Given the description of an element on the screen output the (x, y) to click on. 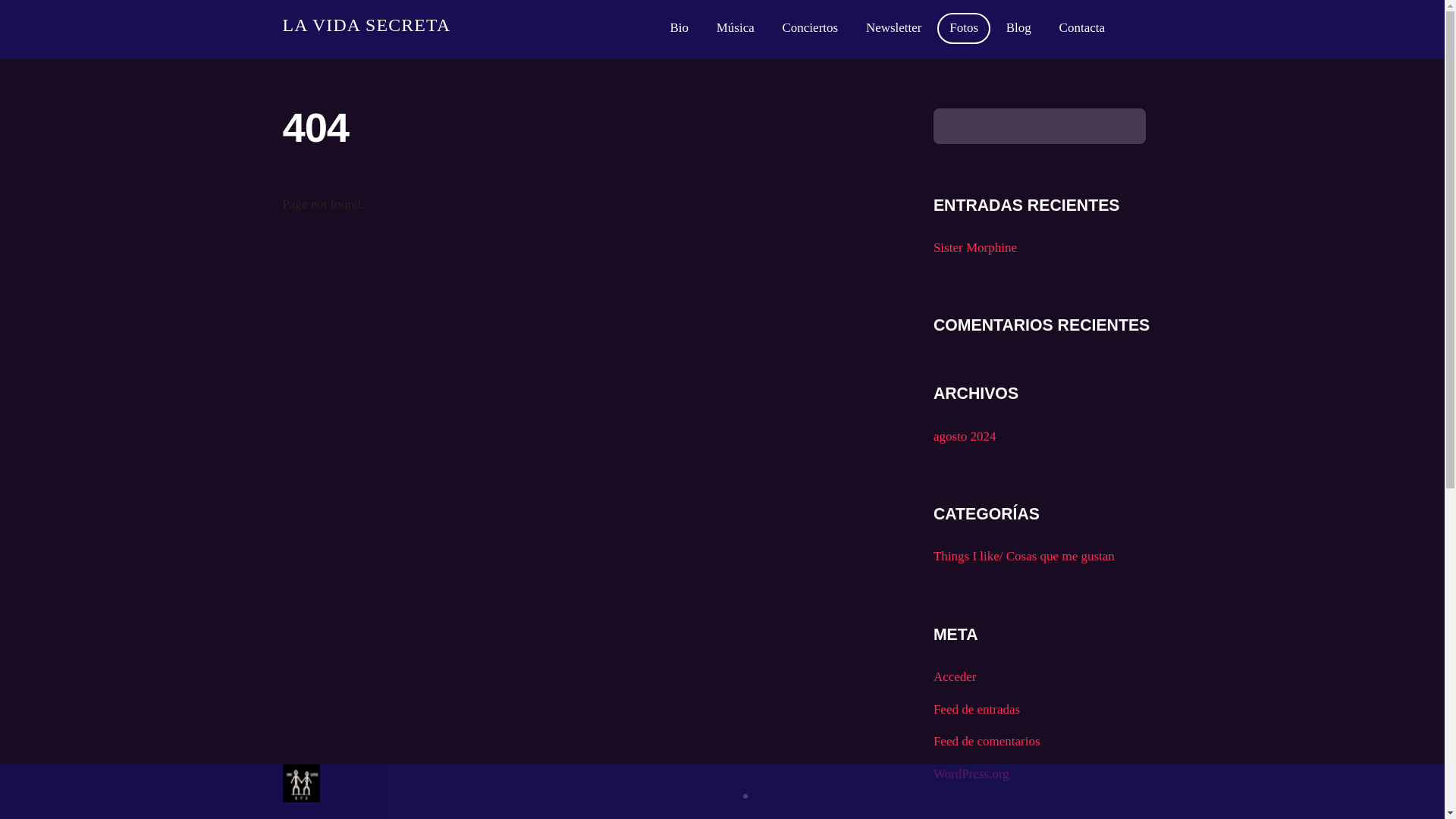
Newsletter (893, 28)
WordPress.org (971, 773)
Conciertos (810, 28)
Blog (1018, 28)
Bio (679, 28)
Fotos (963, 28)
Sister Morphine (974, 247)
Search (1039, 126)
Feed de comentarios (987, 740)
LA VIDA SECRETA (365, 25)
